Given the description of an element on the screen output the (x, y) to click on. 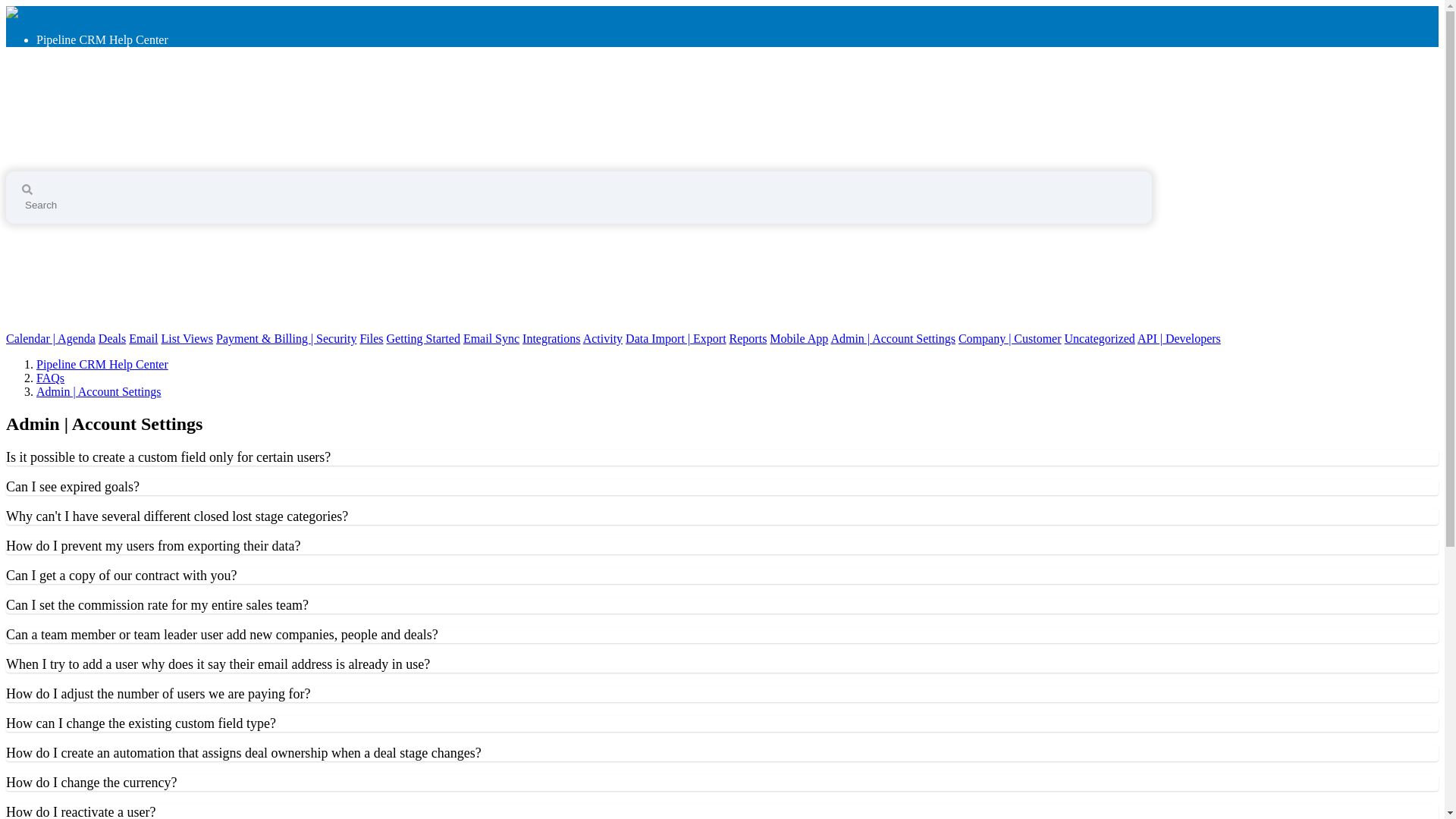
Email Sync (491, 338)
Mobile App (799, 338)
Deals (112, 338)
Activity (603, 338)
Email (143, 338)
Uncategorized (1099, 338)
Pipeline CRM Help Center (128, 118)
Integrations (550, 338)
Pipeline CRM Help Center (102, 364)
Getting Started (423, 338)
